Given the description of an element on the screen output the (x, y) to click on. 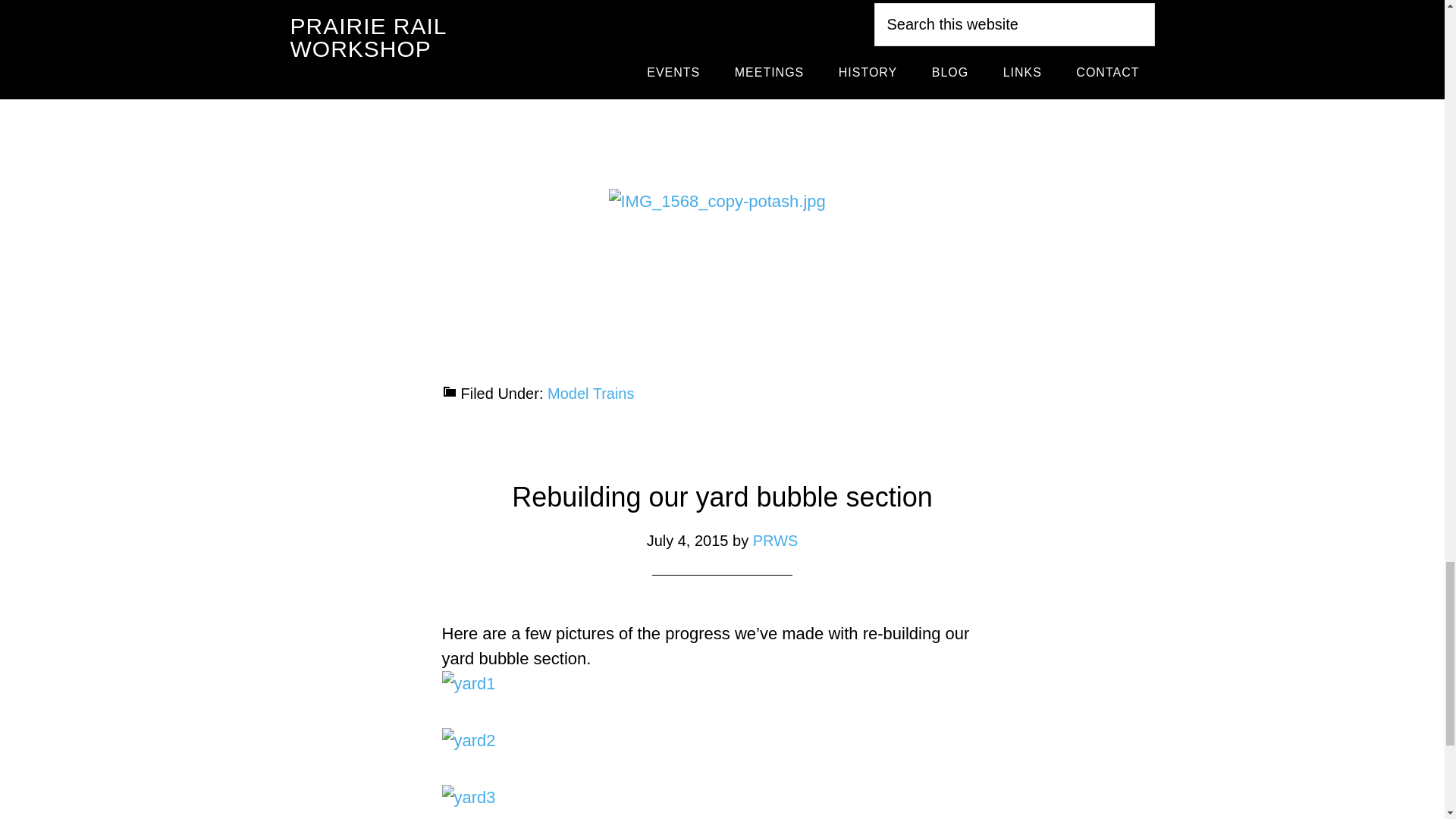
Model Trains (590, 393)
Rebuilding our yard bubble section (721, 496)
PRWS (774, 540)
